Given the description of an element on the screen output the (x, y) to click on. 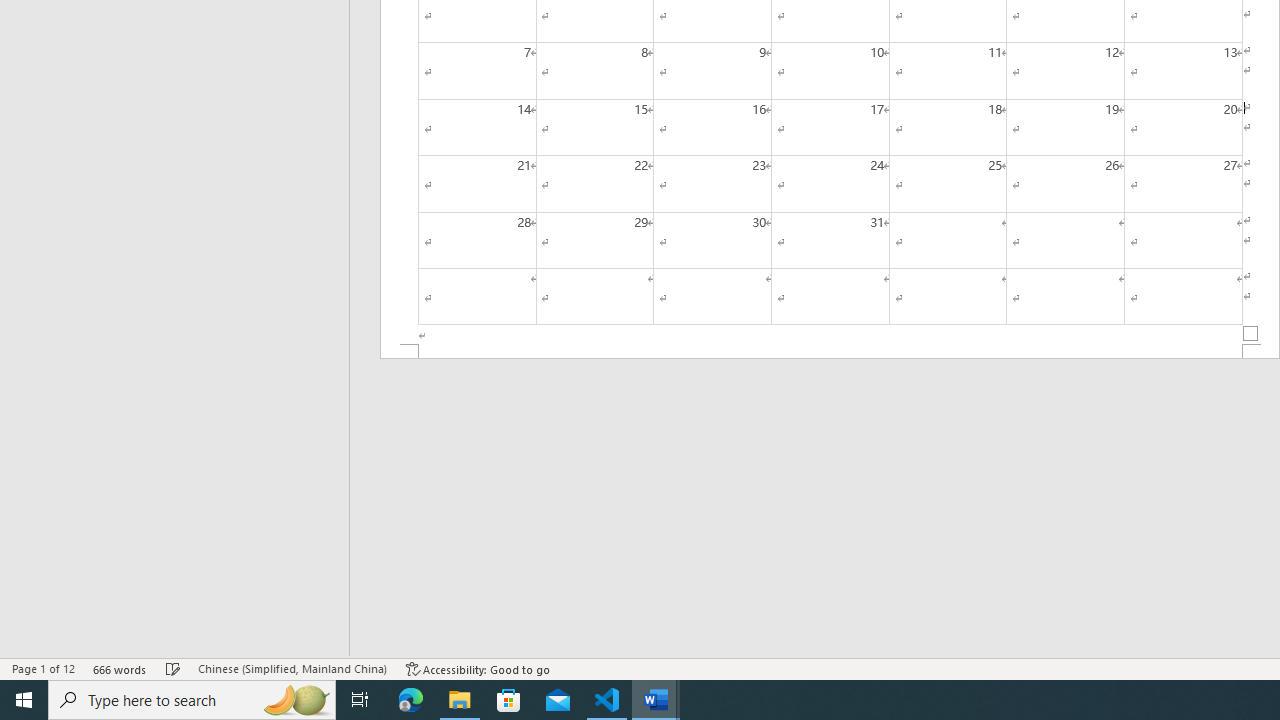
Spelling and Grammar Check Checking (173, 668)
Accessibility Checker Accessibility: Good to go (478, 668)
Language Chinese (Simplified, Mainland China) (292, 668)
Page Number Page 1 of 12 (43, 668)
Footer -Section 1- (830, 351)
Word Count 666 words (119, 668)
